Given the description of an element on the screen output the (x, y) to click on. 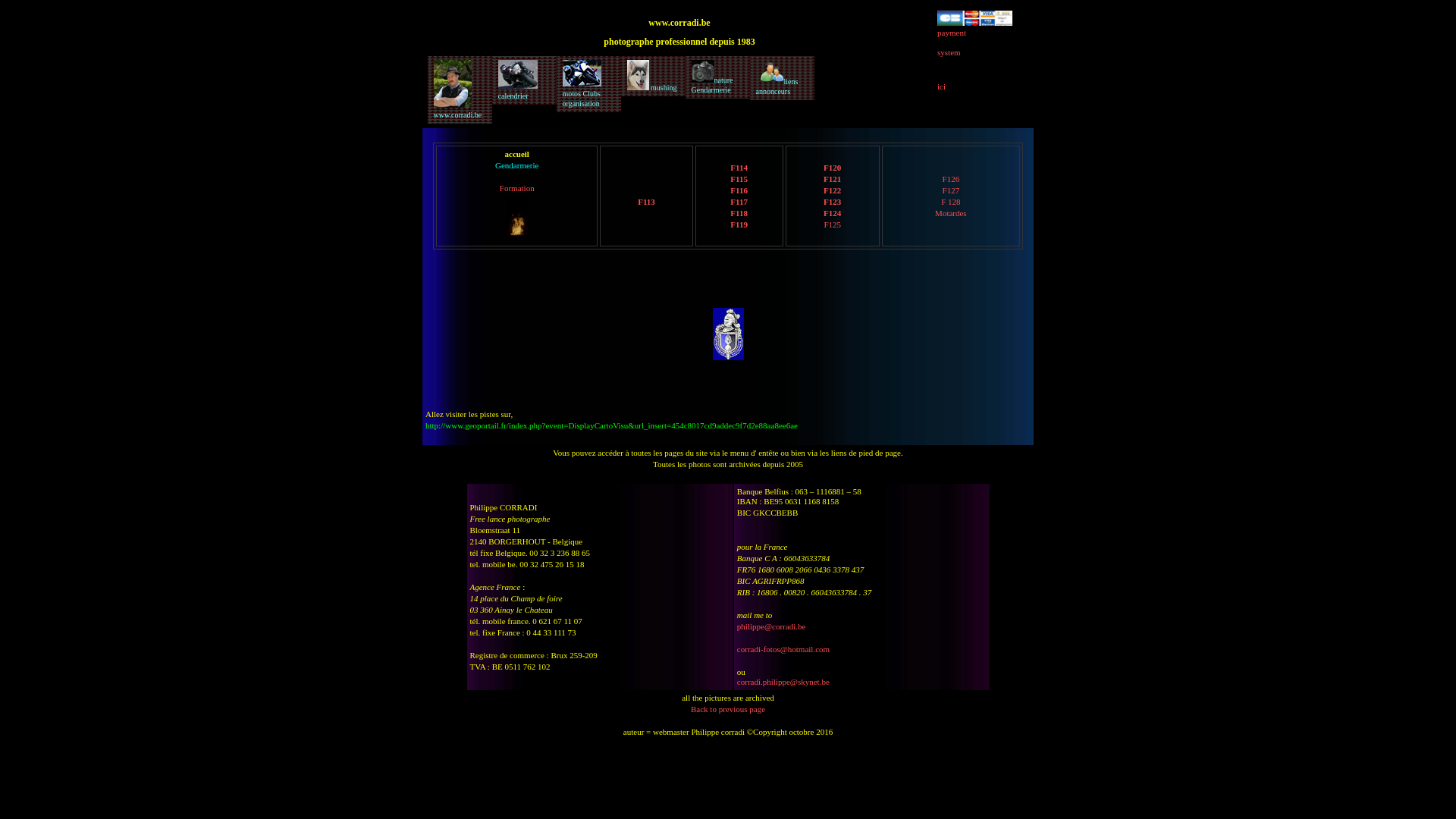
F115 Element type: text (738, 178)
payment

system Element type: text (974, 37)
F126 Element type: text (951, 178)
Motardes Element type: text (950, 211)
F113 Element type: text (646, 201)
ici Element type: text (941, 86)
F114 Element type: text (738, 166)
corradi.philippe@skynet.be Element type: text (783, 681)
motos Clubs organisation Element type: text (588, 84)
F123 Element type: text (831, 201)
Formation Element type: text (516, 187)
nature Gendarmerie Element type: text (717, 77)
calendrier Element type: text (524, 80)
philippe@corradi.be Element type: text (771, 625)
F120 Element type: text (831, 166)
  liens annonceurs Element type: text (781, 78)
F118 Element type: text (738, 211)
F121 Element type: text (831, 178)
mushing Element type: text (653, 76)
F125 Element type: text (831, 224)
F124 Element type: text (831, 211)
F 128 Element type: text (950, 201)
F117 Element type: text (738, 201)
corradi-fotos@hotmail.com Element type: text (783, 648)
F122 Element type: text (831, 189)
F116 Element type: text (738, 189)
F127 Element type: text (951, 189)
www.corradi.be Element type: text (459, 89)
F119 Element type: text (738, 224)
accueil Element type: text (517, 153)
Back to previous page Element type: text (727, 708)
